Given the description of an element on the screen output the (x, y) to click on. 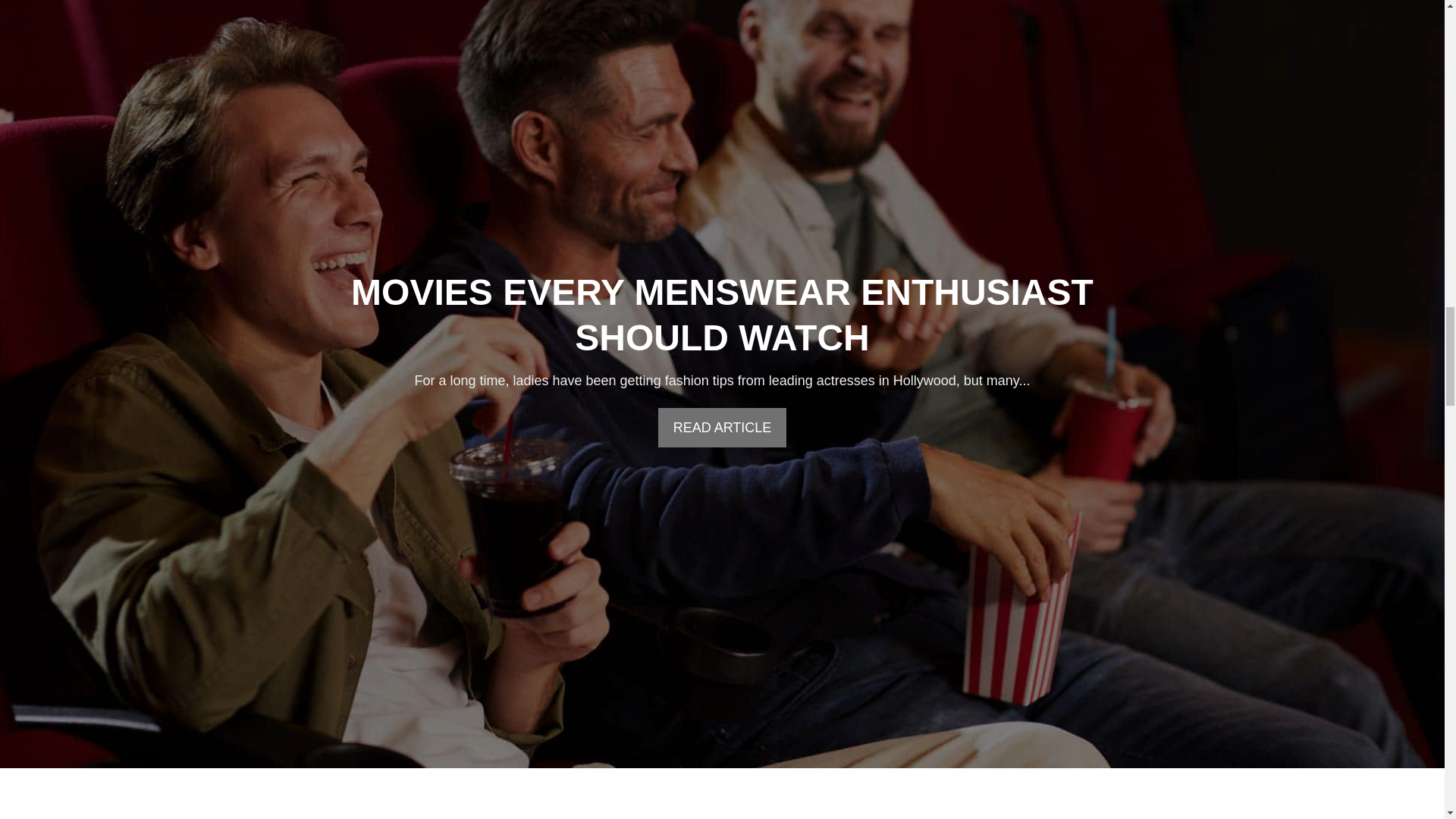
Movies Every Menswear Enthusiast Should Watch (721, 314)
